Given the description of an element on the screen output the (x, y) to click on. 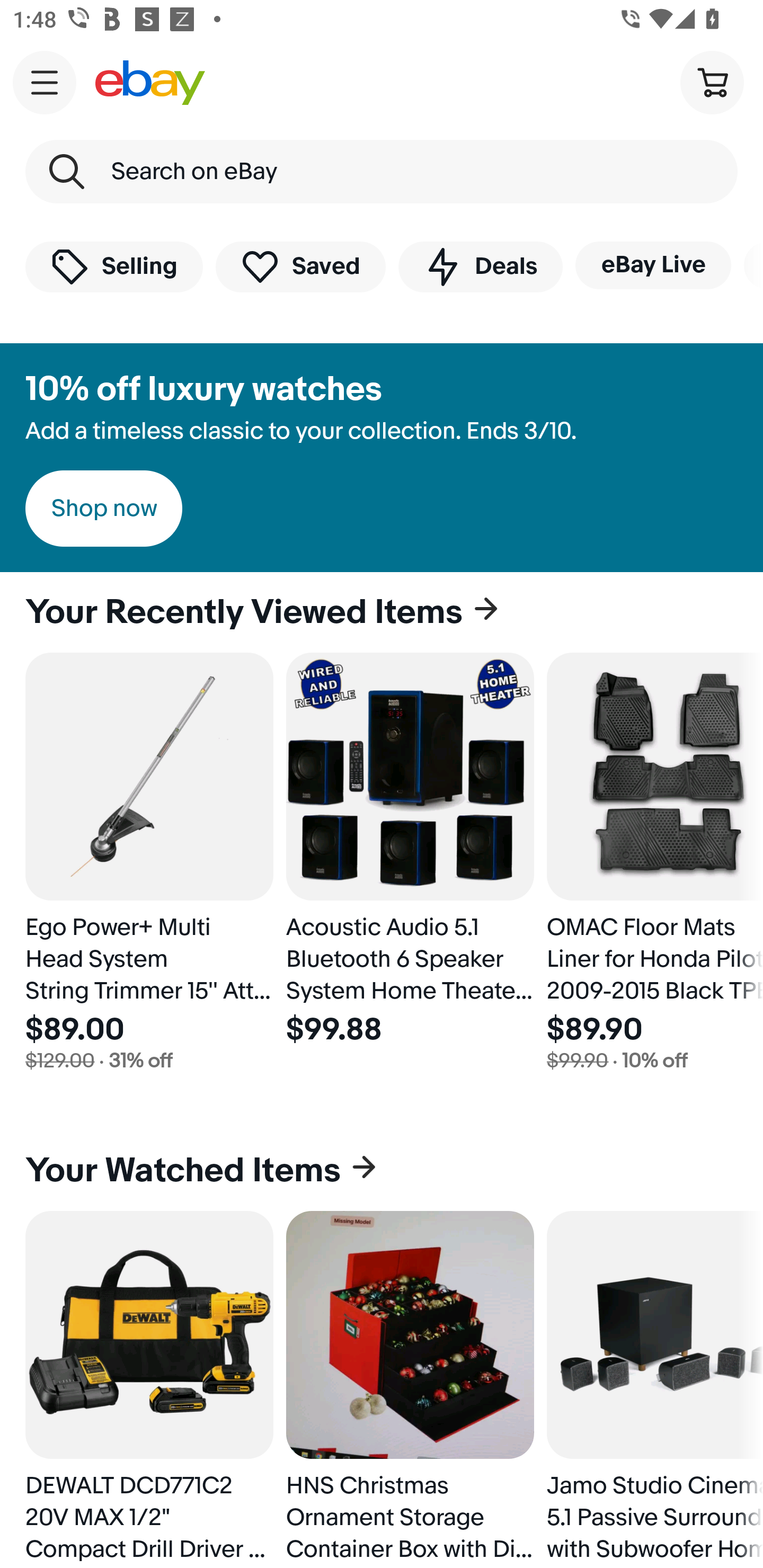
Main navigation, open (44, 82)
Cart button shopping cart (711, 81)
Search on eBay Search Keyword Search on eBay (381, 171)
Selling (113, 266)
Saved (300, 266)
Deals (480, 266)
eBay Live (652, 264)
10% off luxury watches (203, 389)
Shop now (103, 508)
Your Recently Viewed Items   (381, 612)
Your Watched Items   (381, 1170)
